Given the description of an element on the screen output the (x, y) to click on. 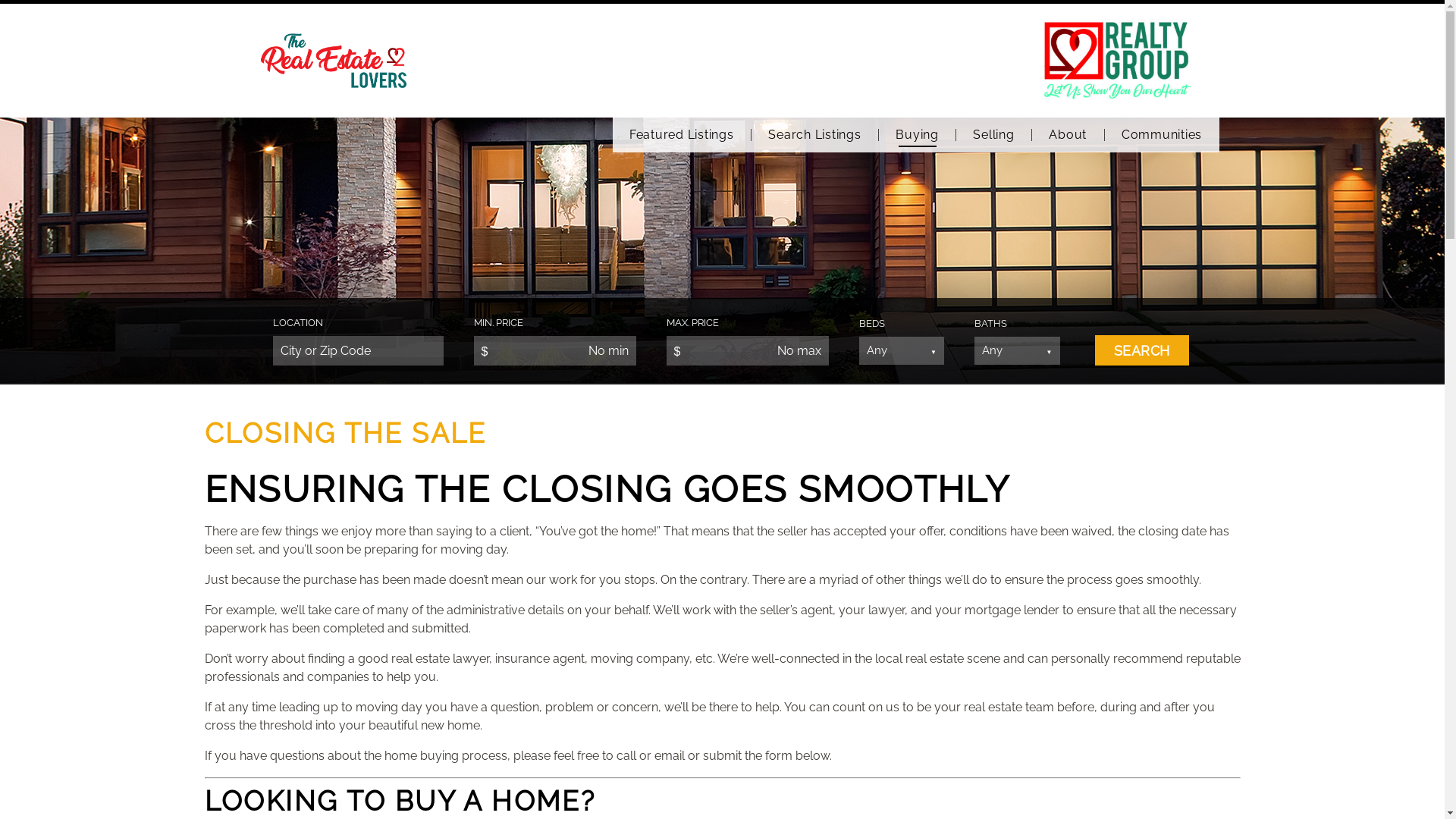
Featured Listings Element type: text (681, 134)
SEARCH Element type: text (1142, 350)
Buying Element type: text (917, 134)
About Element type: text (1068, 134)
Accessibility Menu Element type: hover (9, 810)
Selling Element type: text (994, 134)
Communities Element type: text (1161, 134)
Search Listings Element type: text (814, 134)
